Given the description of an element on the screen output the (x, y) to click on. 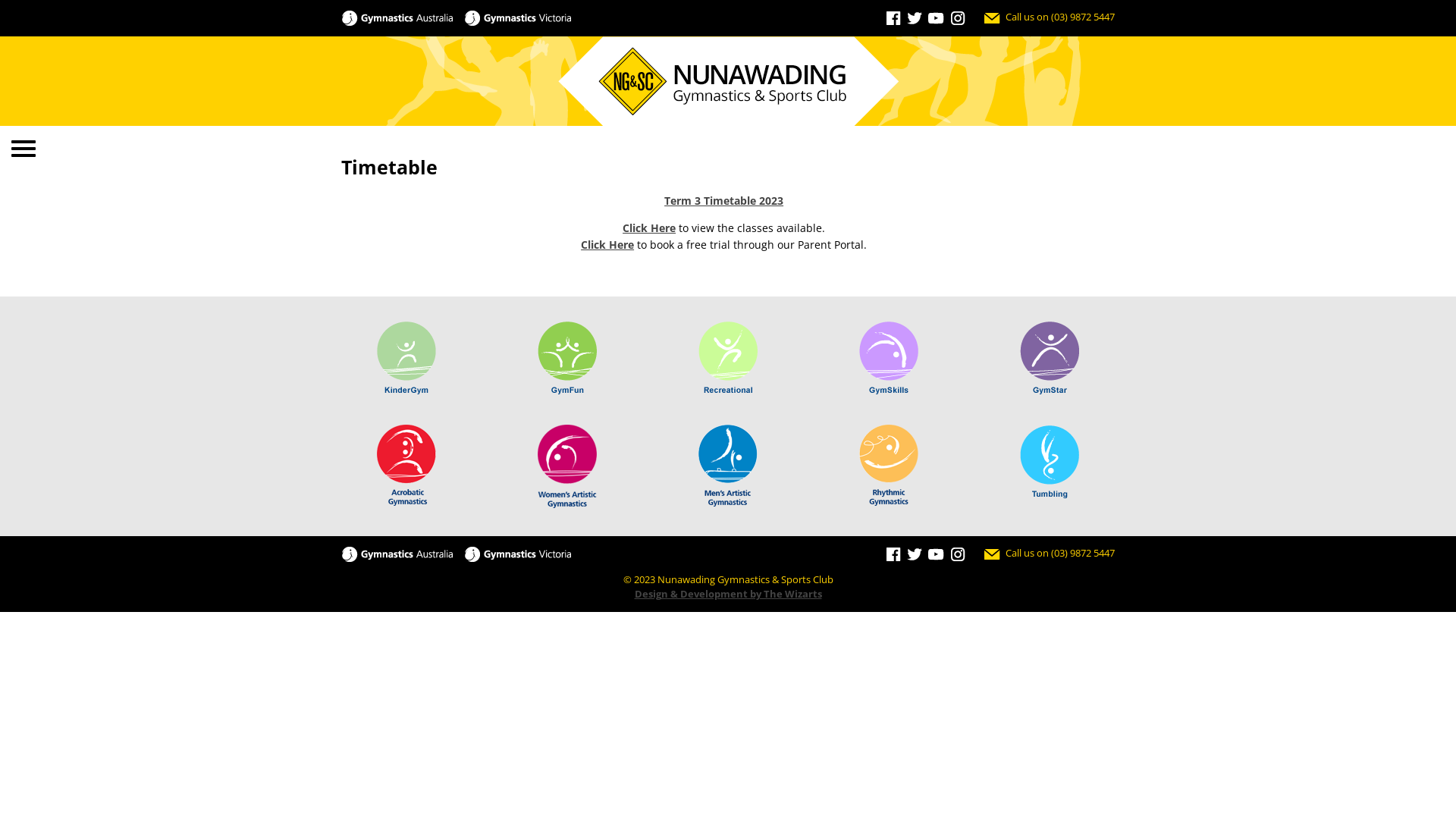
Click Here Element type: text (648, 227)
Design & Development by The Wizarts Element type: text (727, 593)
Term 3 Timetable 2023 Element type: text (723, 200)
Click Here Element type: text (606, 244)
